Given the description of an element on the screen output the (x, y) to click on. 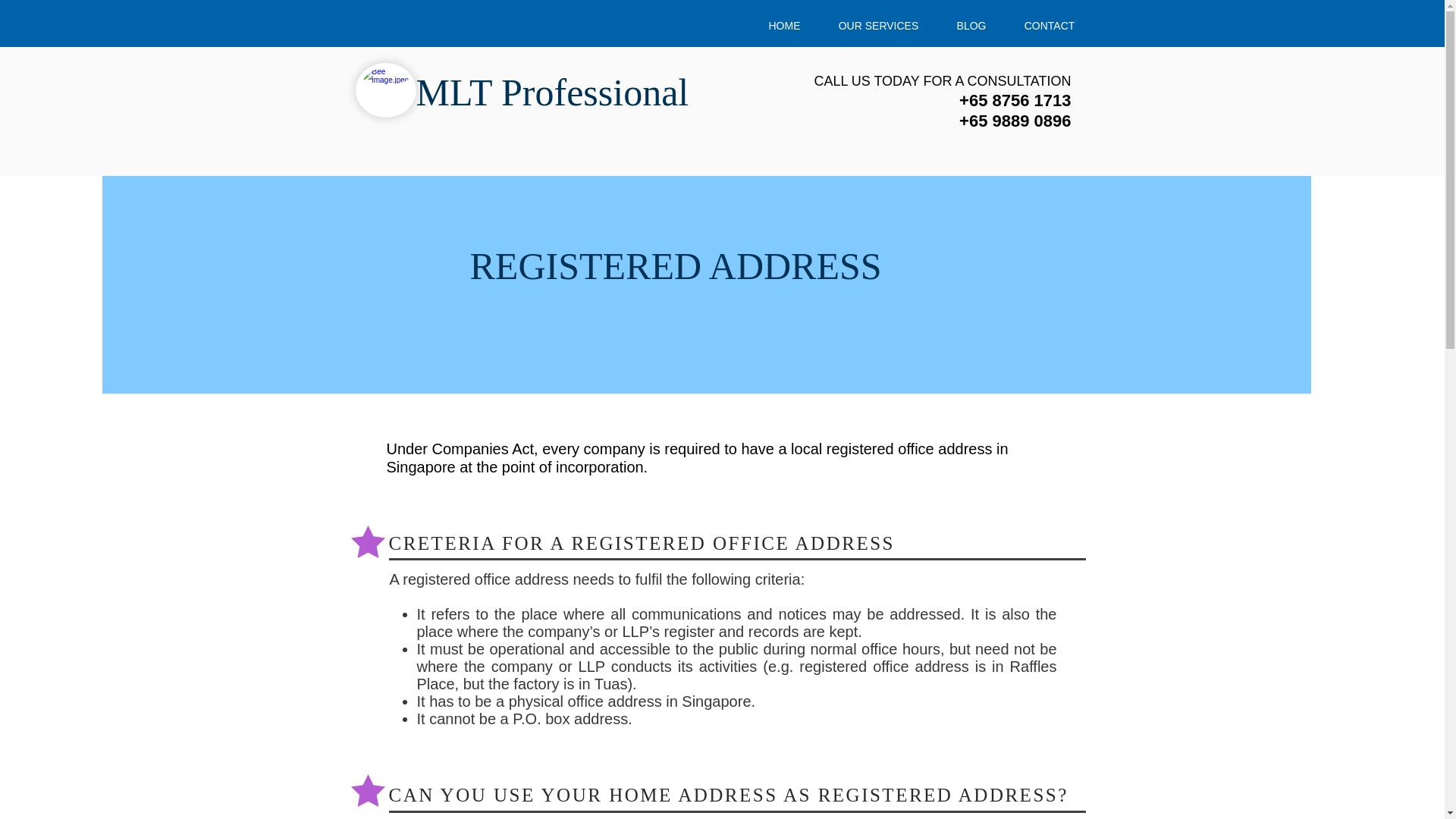
HOME (783, 26)
BLOG (970, 26)
CONTACT (1050, 26)
